Given the description of an element on the screen output the (x, y) to click on. 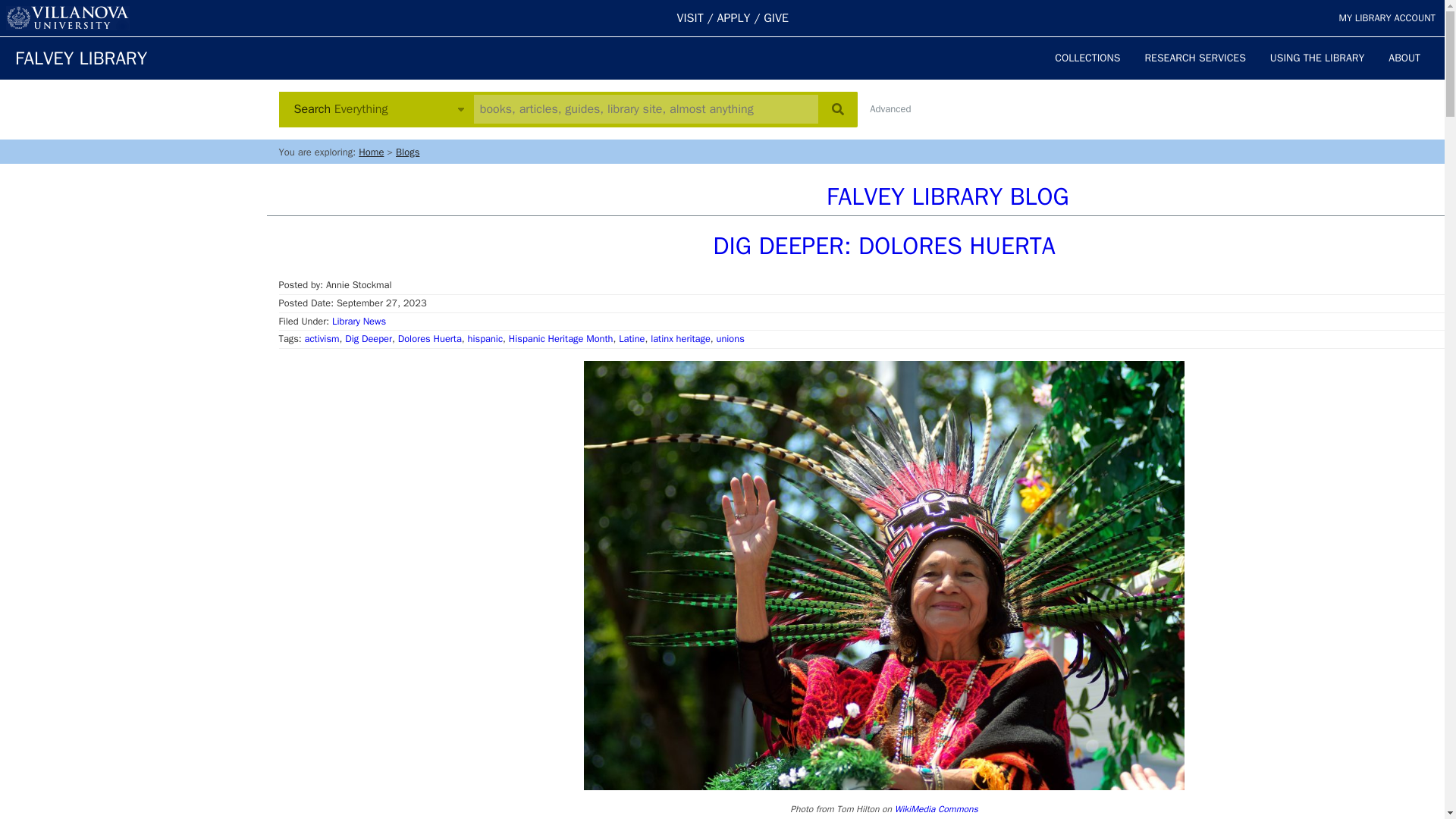
GIVE (775, 17)
MY LIBRARY ACCOUNT (1386, 18)
VISIT (690, 17)
COLLECTIONS (1087, 57)
RESEARCH SERVICES (1194, 57)
APPLY (734, 17)
